Given the description of an element on the screen output the (x, y) to click on. 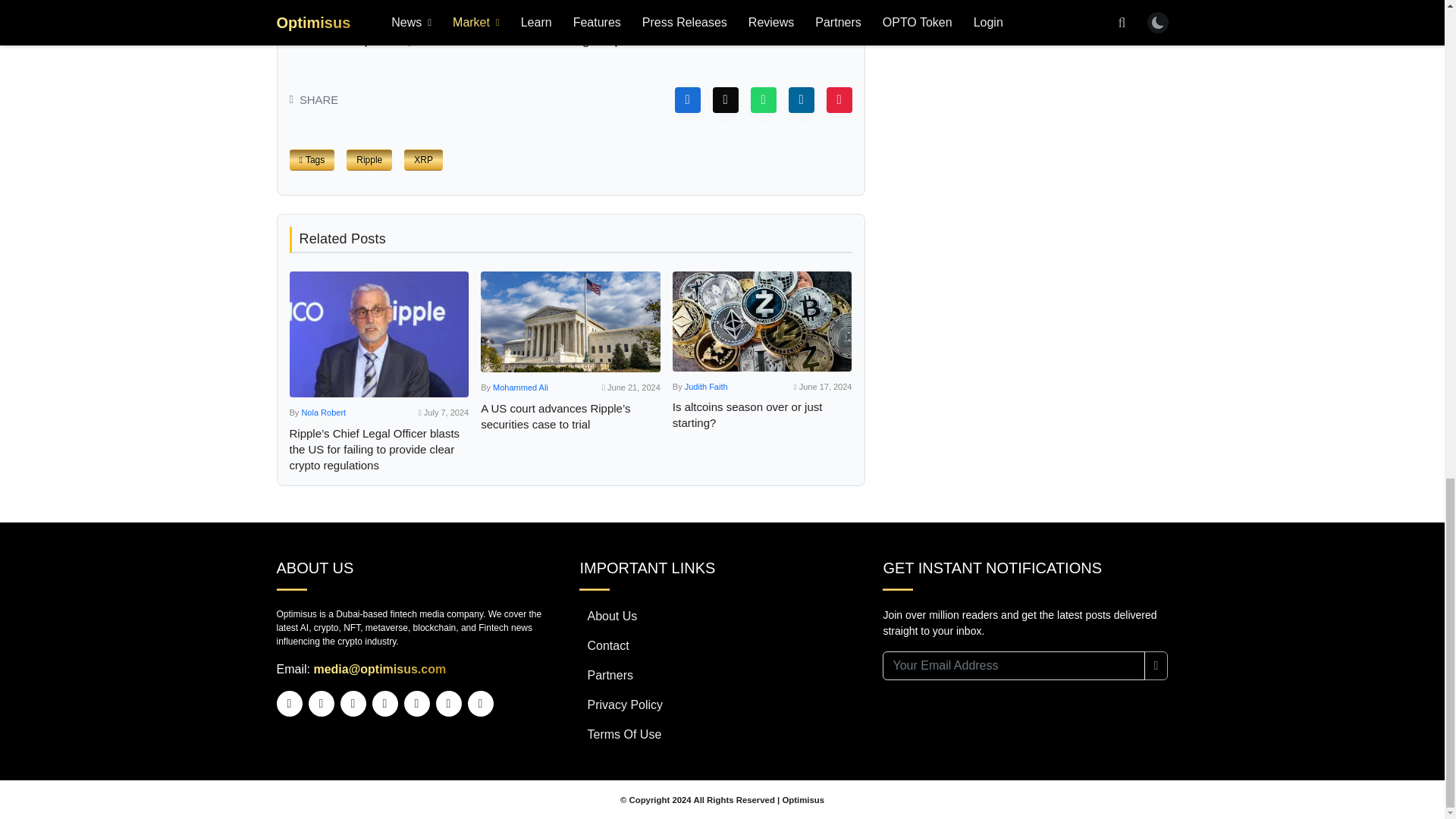
Ripple (368, 159)
Nola Robert (323, 411)
XRP (423, 159)
